Given the description of an element on the screen output the (x, y) to click on. 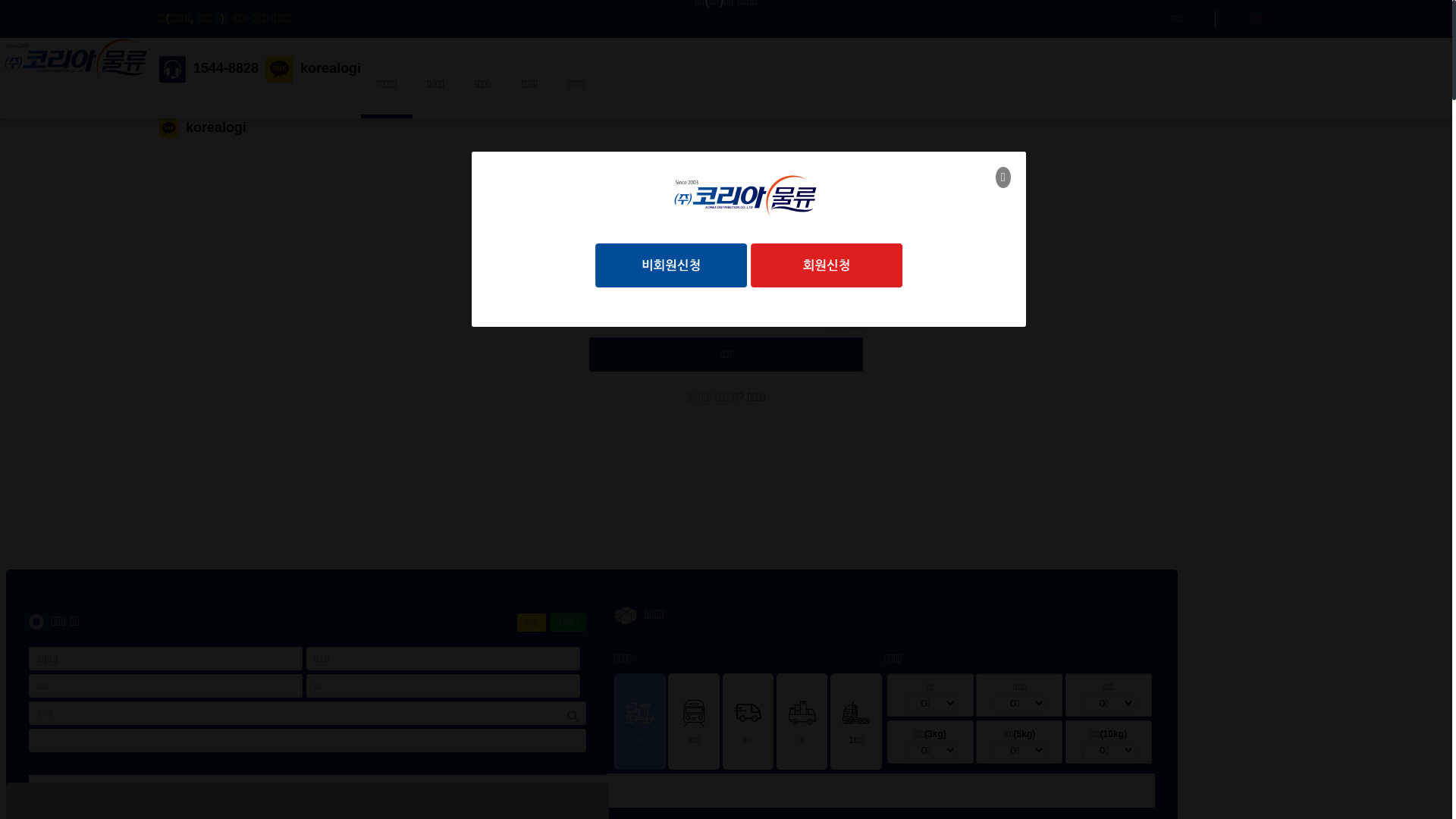
Toggle navigation Element type: text (255, 48)
1544-8828 Element type: text (205, 68)
Toggle navigation Element type: text (365, 48)
